Given the description of an element on the screen output the (x, y) to click on. 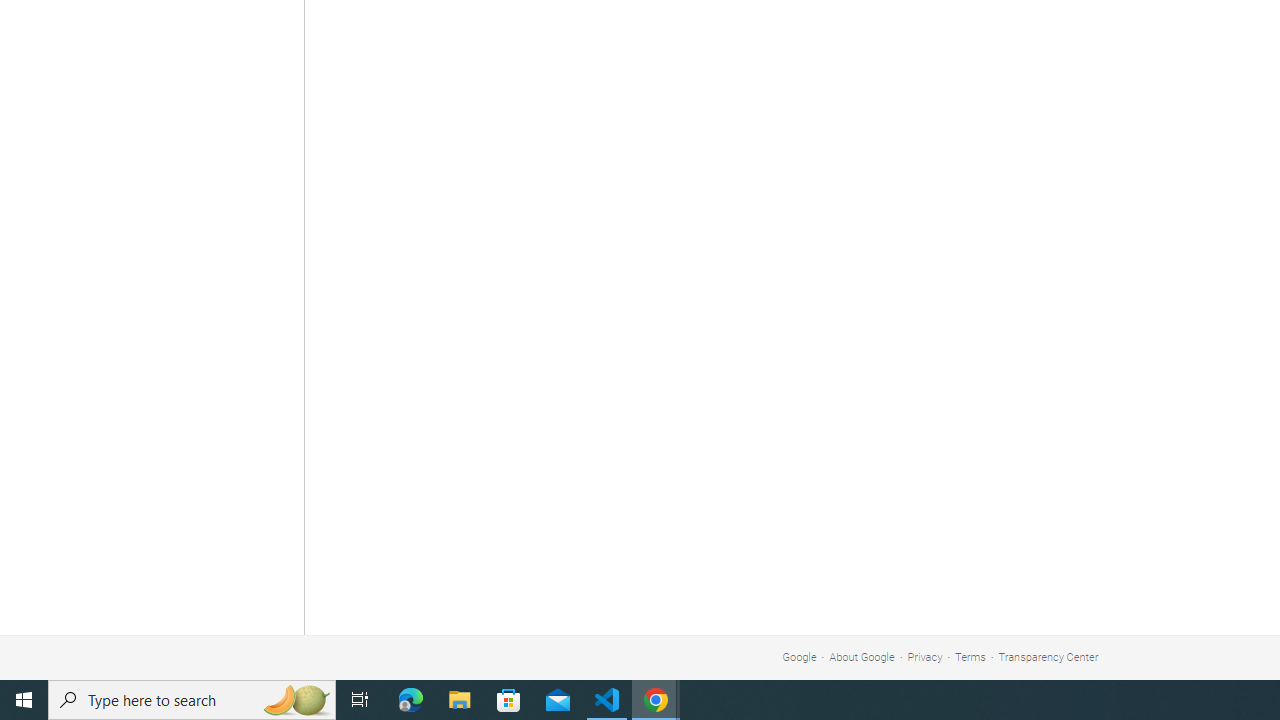
Transparency Center (1048, 656)
Terms (969, 656)
About Google (861, 656)
Privacy (925, 656)
Google (799, 656)
